Given the description of an element on the screen output the (x, y) to click on. 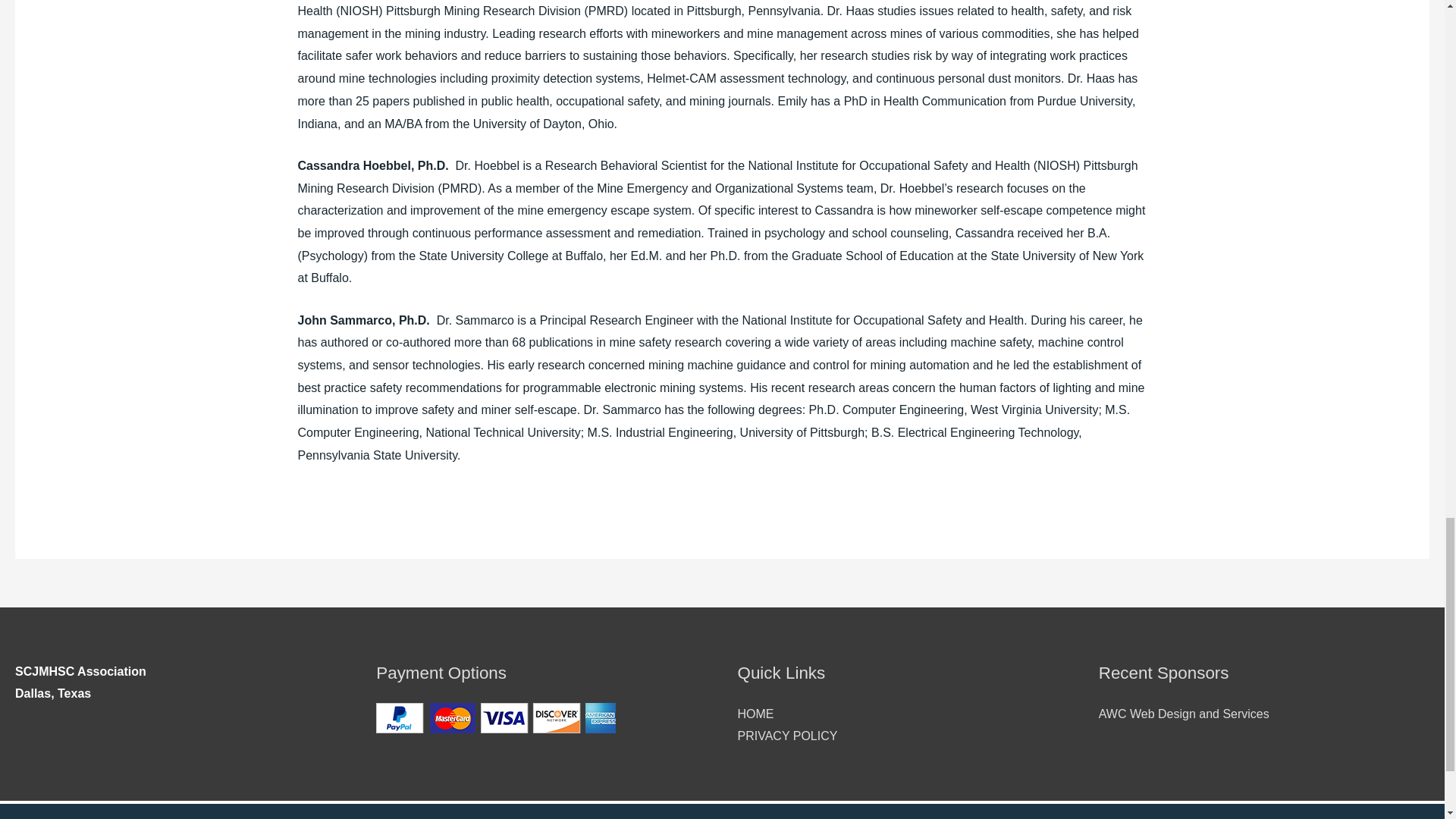
AWC Web Design and Services (1184, 713)
HOME (754, 713)
PRIVACY POLICY (786, 735)
